Given the description of an element on the screen output the (x, y) to click on. 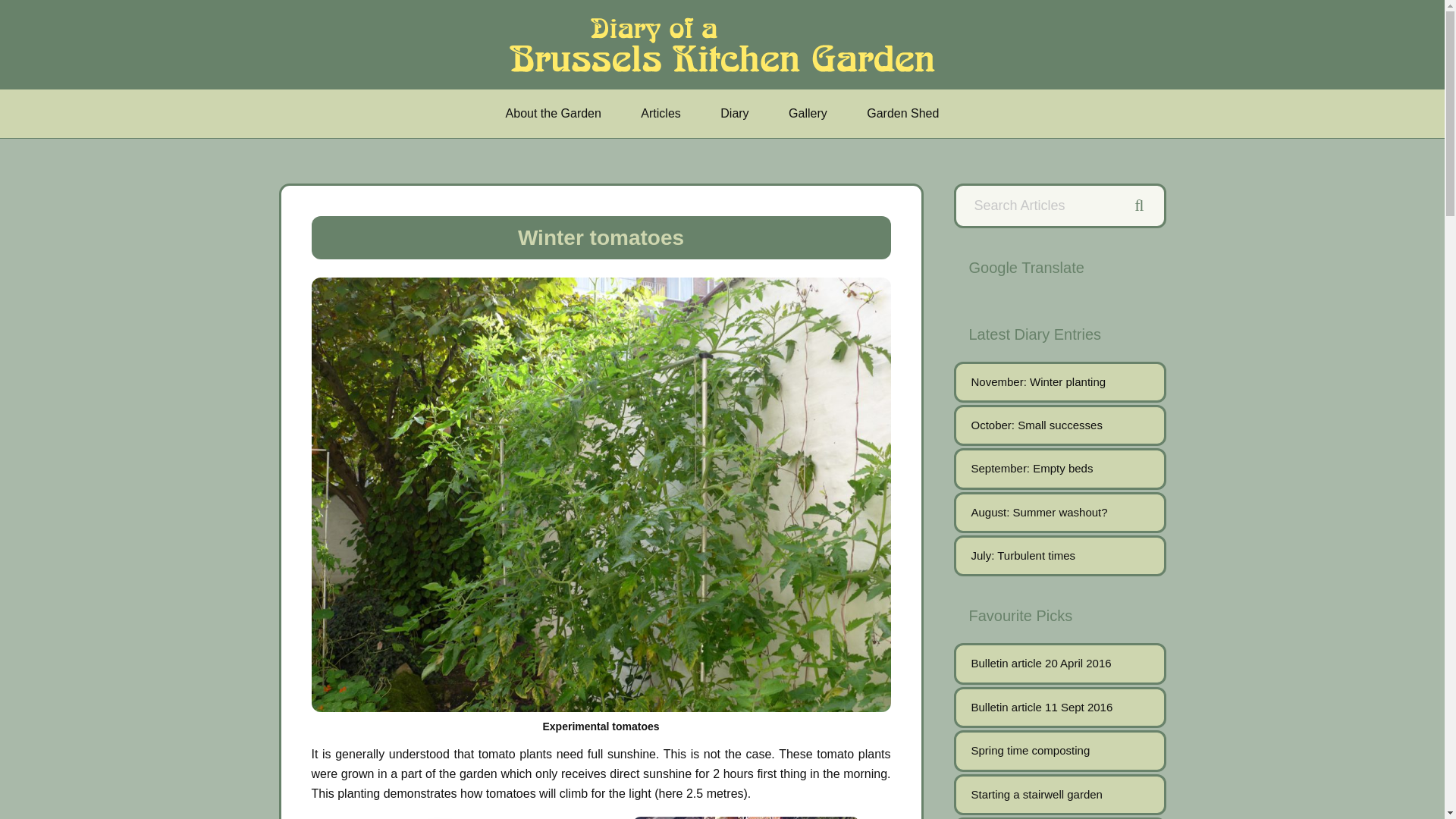
DIARY OF A BRUSSELS KITCHEN GARDEN (726, 44)
Diary (734, 113)
Garden Shed (902, 113)
Articles (660, 113)
About the Garden (553, 113)
Gallery (807, 113)
